Given the description of an element on the screen output the (x, y) to click on. 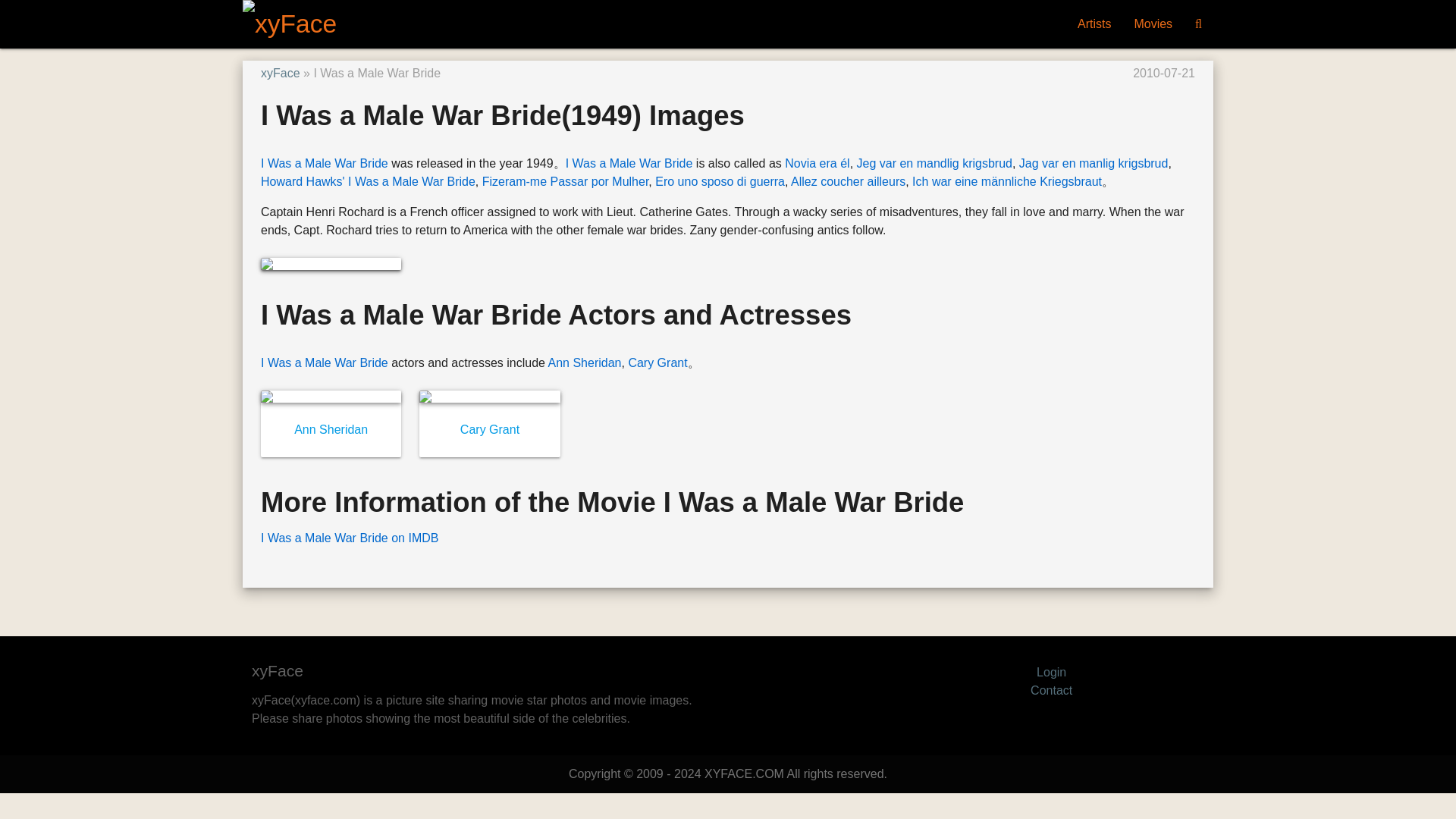
Cary Grant (657, 362)
Cary Grant (489, 429)
xyFace (279, 72)
Login (1050, 671)
Jeg var en mandlig krigsbrud (934, 163)
I Was a Male War Bride on IMDB (349, 537)
I Was a Male War Bride (324, 163)
Ann Sheridan (584, 362)
Artists (1093, 24)
Allez coucher ailleurs (847, 181)
